Given the description of an element on the screen output the (x, y) to click on. 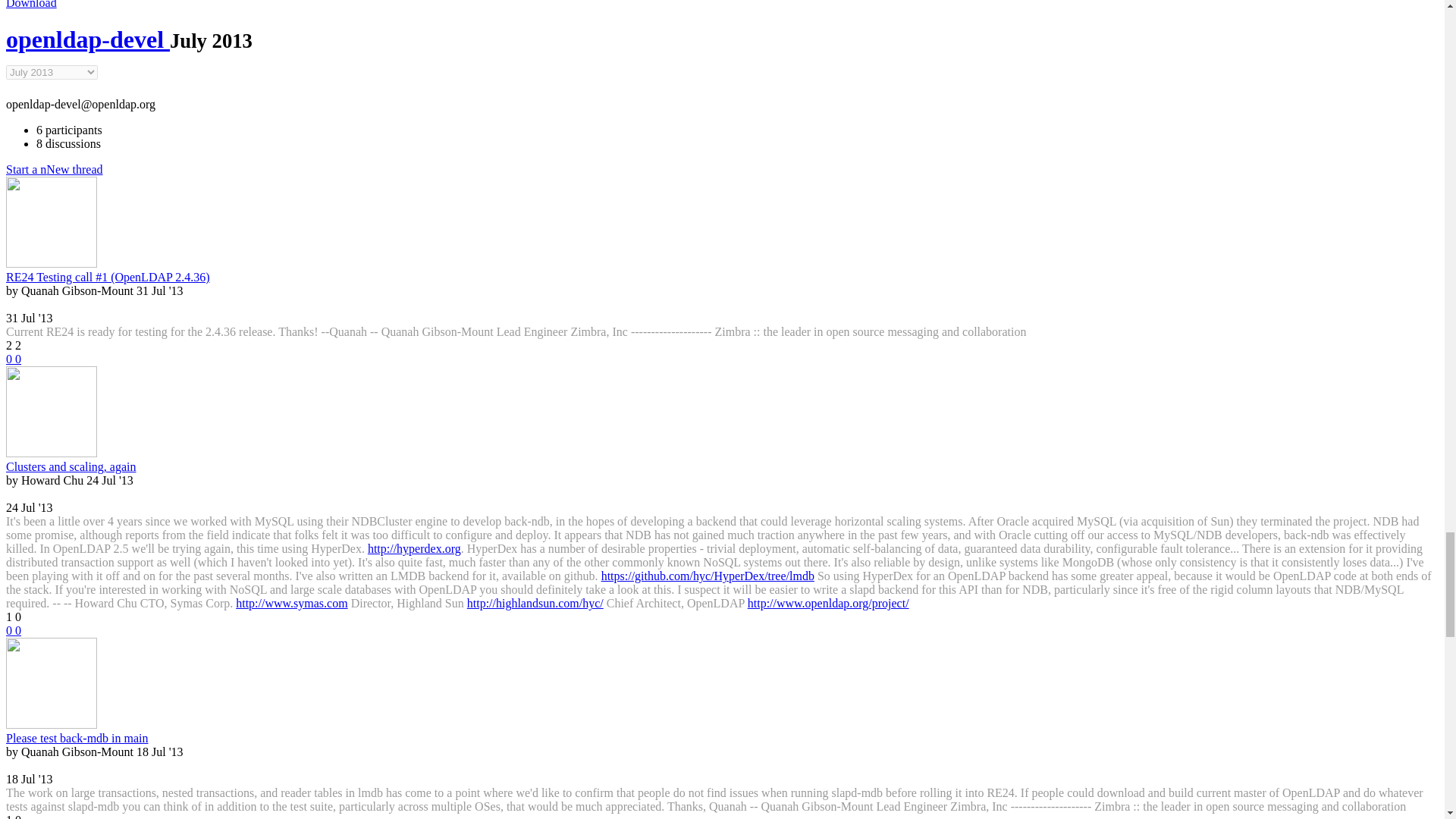
Wednesday, 24 July 2013 17:55:17 (109, 480)
This month in gzipped mbox format (30, 4)
Wednesday, 24 July 2013 17:55:17 (28, 507)
Wednesday, 31 July 2013 01:10:32 (159, 290)
Thursday, 18 July 2013 11:59:54 (28, 779)
Wednesday, 31 July 2013 01:10:32 (28, 318)
Thursday, 18 July 2013 11:59:54 (159, 751)
